Given the description of an element on the screen output the (x, y) to click on. 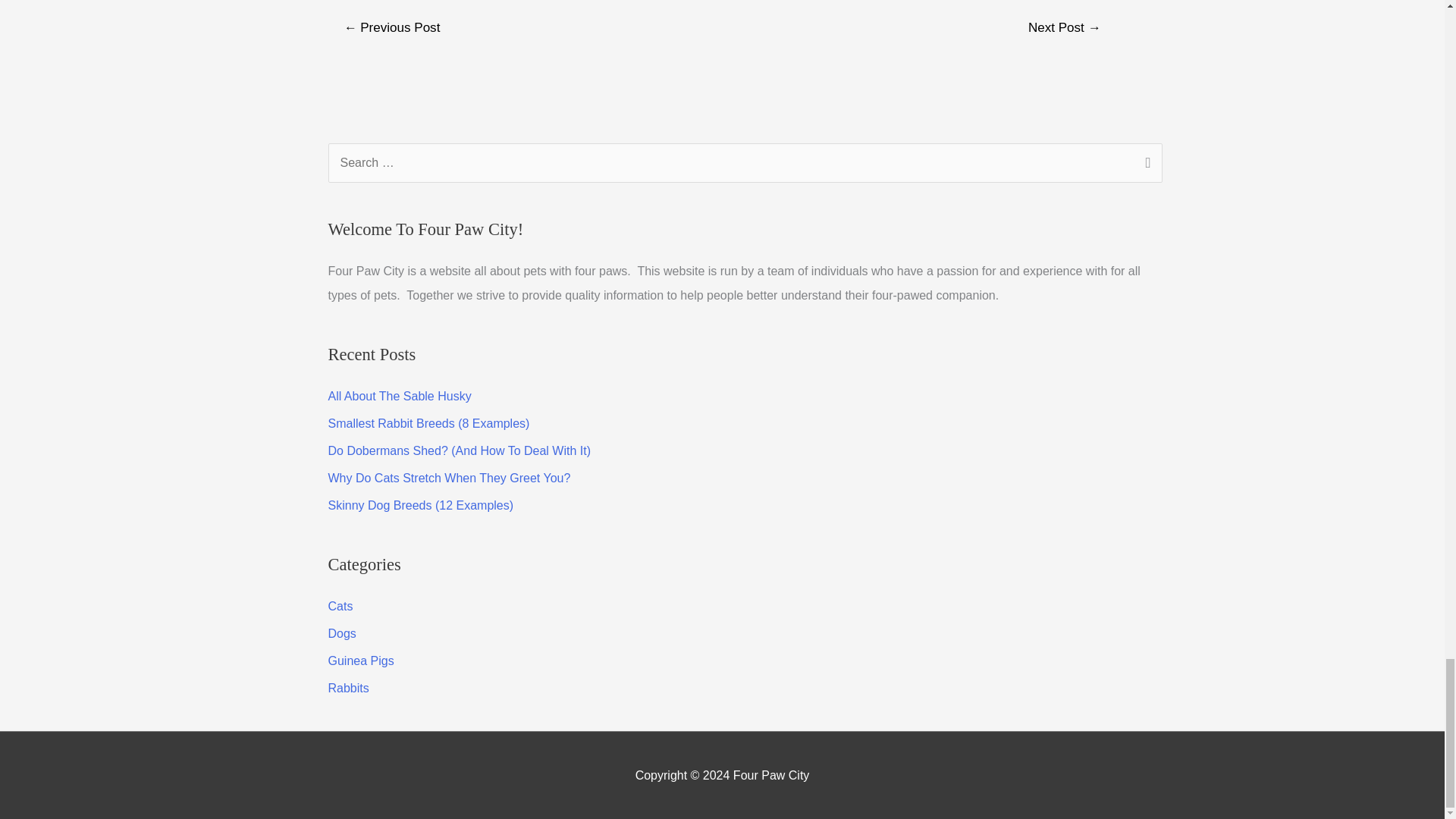
Why Do Cats Stretch When They Greet You? (448, 477)
Cats (339, 605)
Rabbits (347, 687)
Search (1144, 164)
Guinea Pigs (360, 660)
Search (1144, 164)
Search (1144, 164)
All About The Sable Husky (398, 395)
Dogs (341, 633)
